Given the description of an element on the screen output the (x, y) to click on. 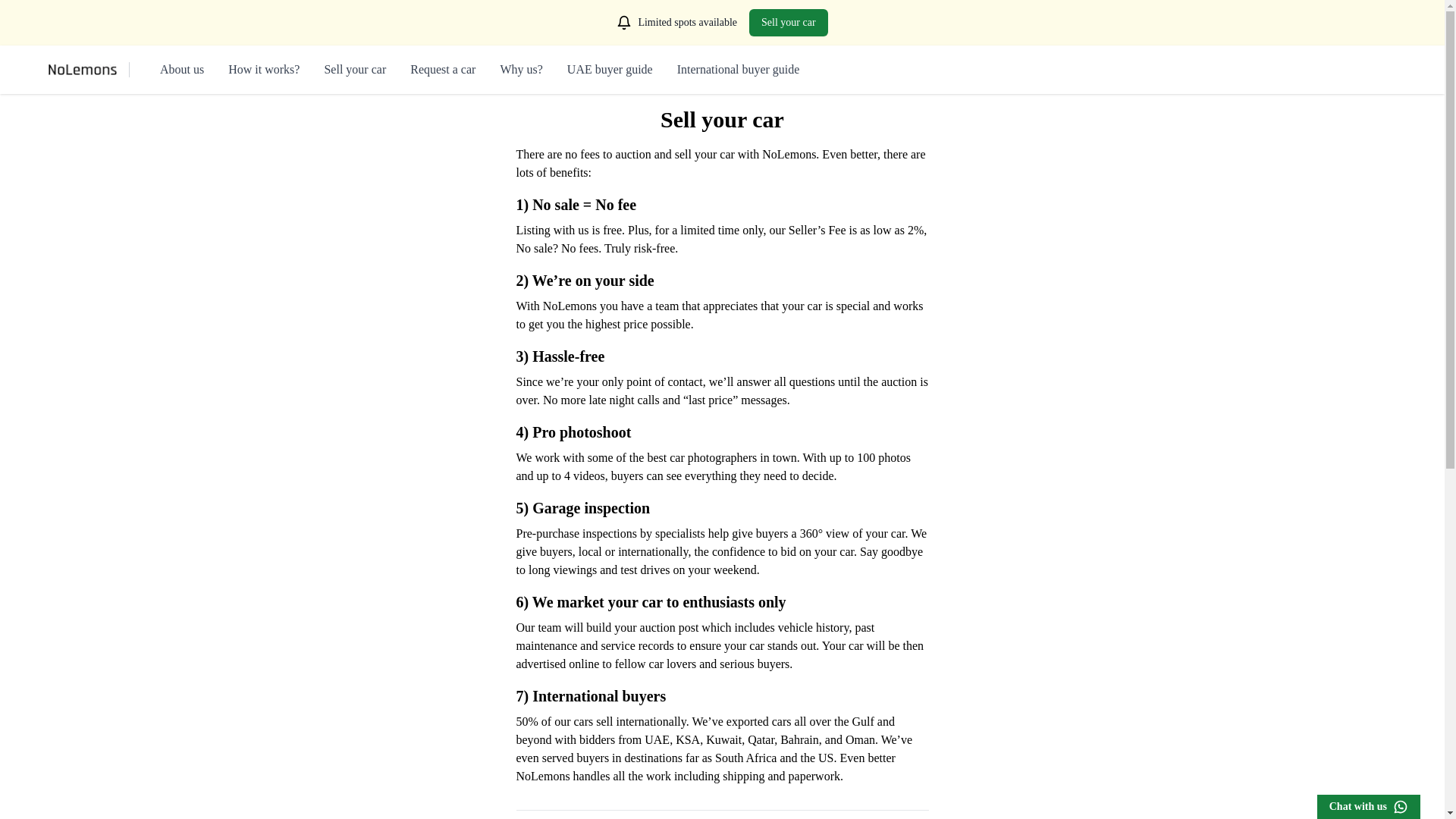
International buyer guide (738, 69)
Why us? (520, 69)
Chat with us (1369, 806)
UAE buyer guide (609, 69)
Sell your car (788, 22)
Request a car (442, 69)
How it works? (263, 69)
About us (181, 69)
Sell your car (354, 69)
